Given the description of an element on the screen output the (x, y) to click on. 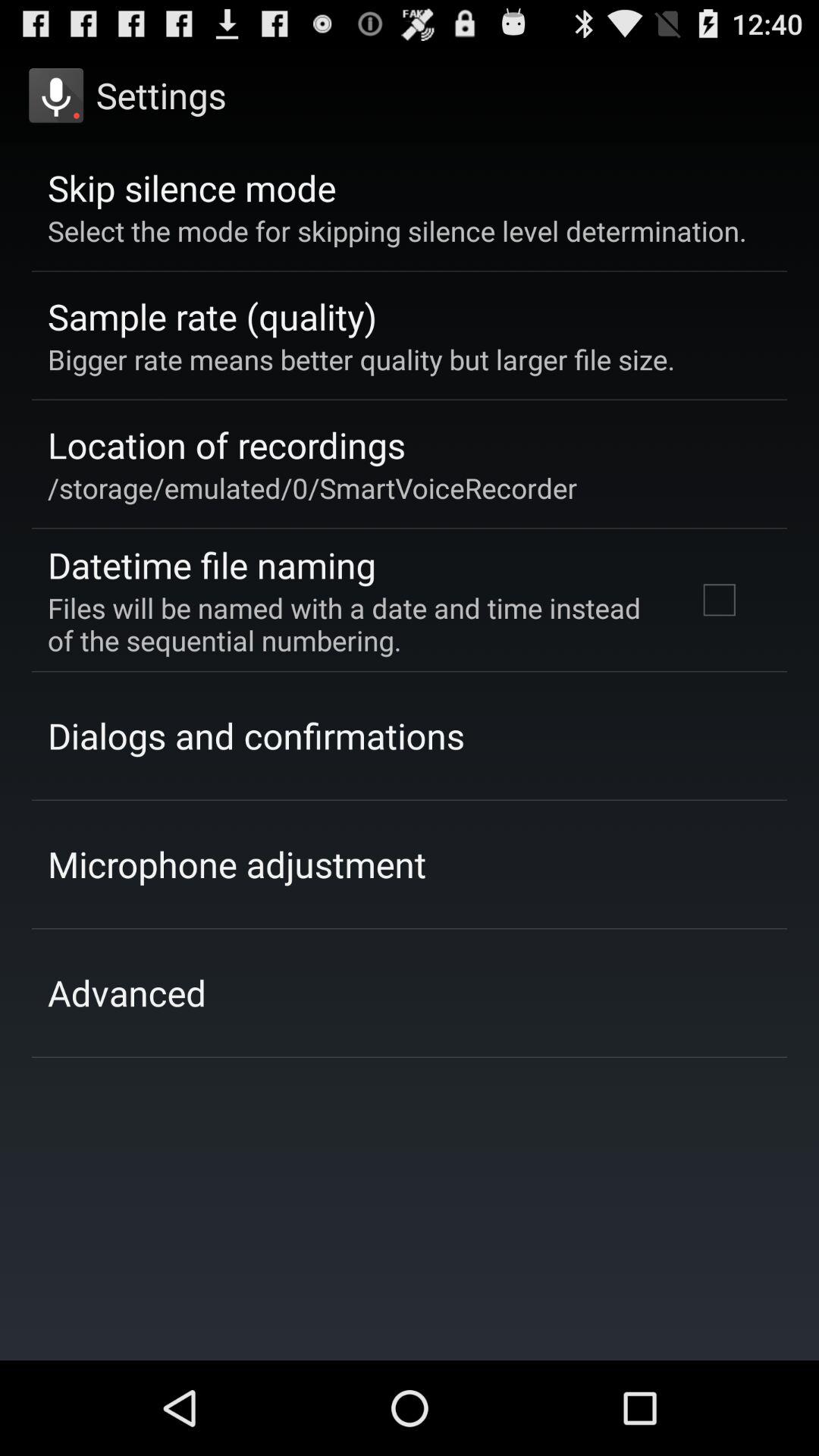
click datetime file naming icon (211, 564)
